Given the description of an element on the screen output the (x, y) to click on. 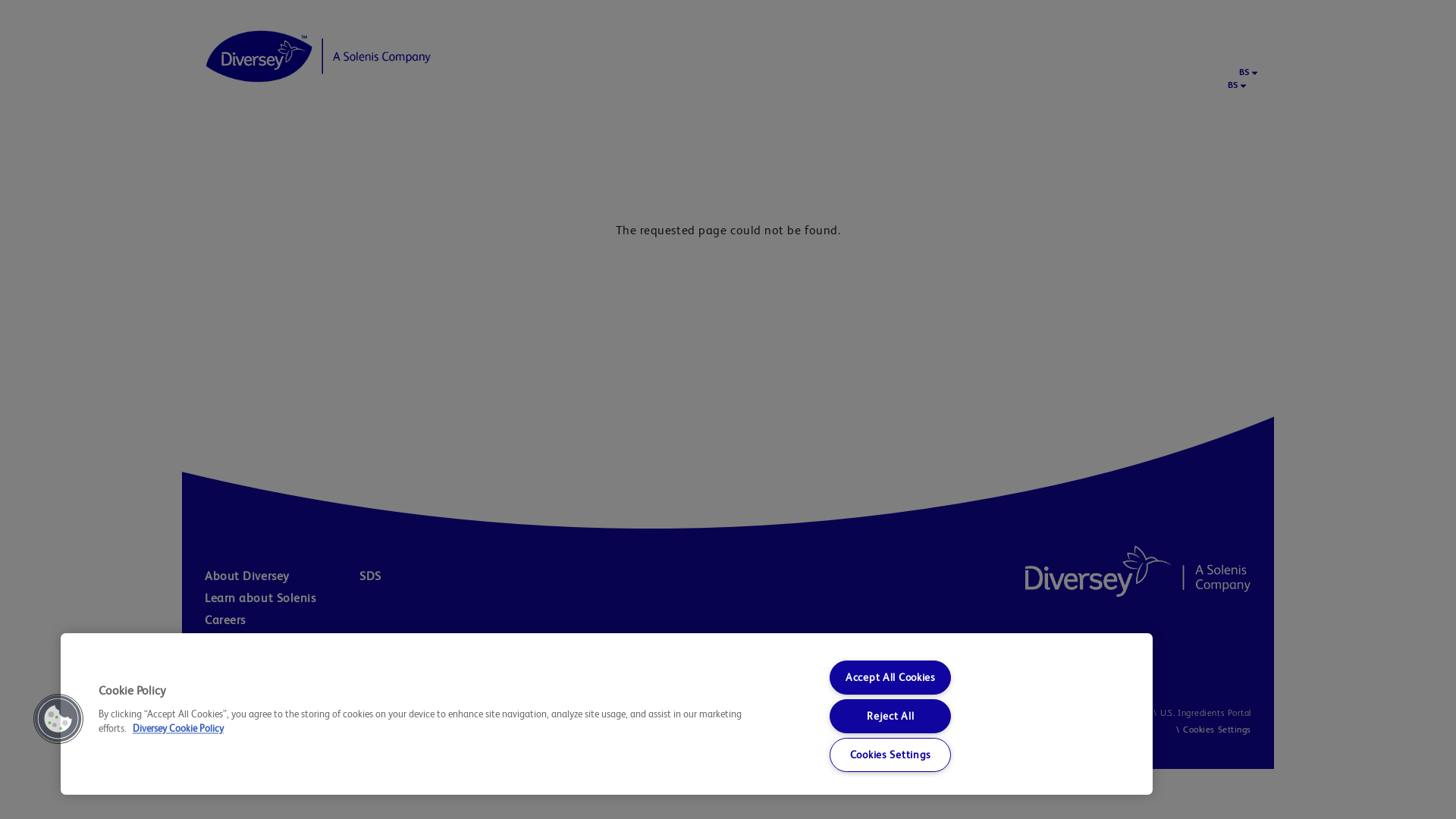
Home Element type: hover (1137, 570)
Reject All Element type: text (889, 716)
BS Element type: text (1233, 85)
Terms Of Use Element type: text (882, 712)
SDS Element type: text (434, 576)
Skip to main content Element type: text (0, 0)
youtube Element type: text (261, 714)
twitter Element type: text (211, 714)
Blog Element type: text (277, 664)
Supplier Code of Conduct Element type: text (791, 712)
Cookies Element type: text (1127, 712)
Global Standards of Business Conduct Element type: text (651, 712)
Careers Element type: text (277, 620)
About Diversey Element type: text (279, 576)
Diversey Cookie Policy Element type: text (177, 728)
Cookies Settings Element type: text (1217, 729)
Media Center Element type: text (277, 642)
Cookies Settings Element type: text (889, 754)
Learn about Solenis Element type: text (277, 598)
BS Element type: text (1245, 72)
Accept All Cookies Element type: text (889, 677)
Home Element type: hover (318, 56)
facebook Element type: text (236, 714)
Diversey, Inc Element type: text (543, 712)
Privacy Notice Element type: text (1071, 712)
Modern Slavery Statement Element type: text (976, 712)
U.S. Ingredients Portal Element type: text (1200, 712)
\ Element type: text (1177, 729)
Cookies Button Element type: text (58, 718)
